Given the description of an element on the screen output the (x, y) to click on. 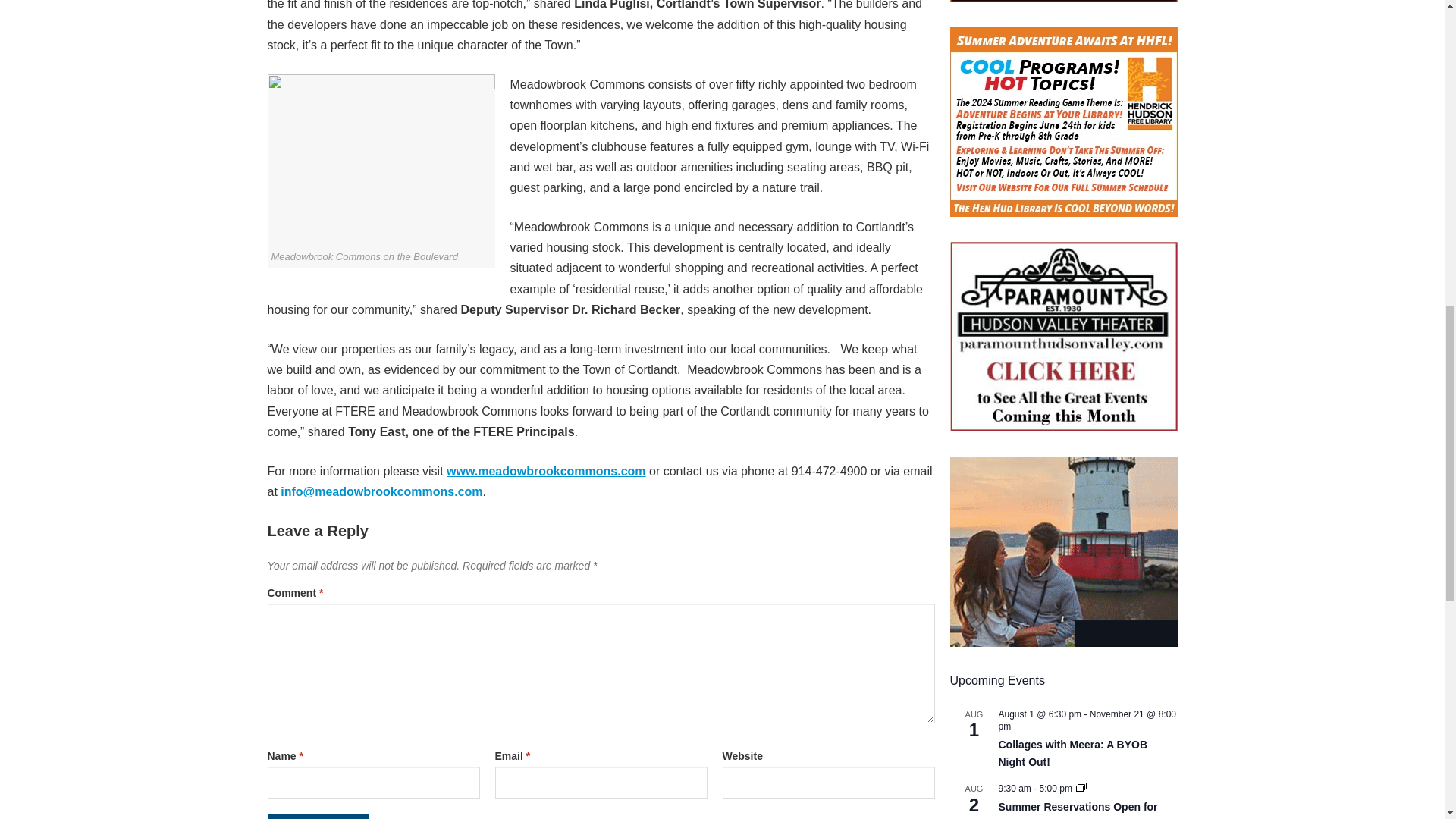
Summer Reservations Open for Trails Without Limits Program (1077, 809)
Collages with Meera: A BYOB Night Out! (1072, 753)
Event Series (1080, 787)
Event Series (1080, 786)
Post Comment (317, 816)
